Given the description of an element on the screen output the (x, y) to click on. 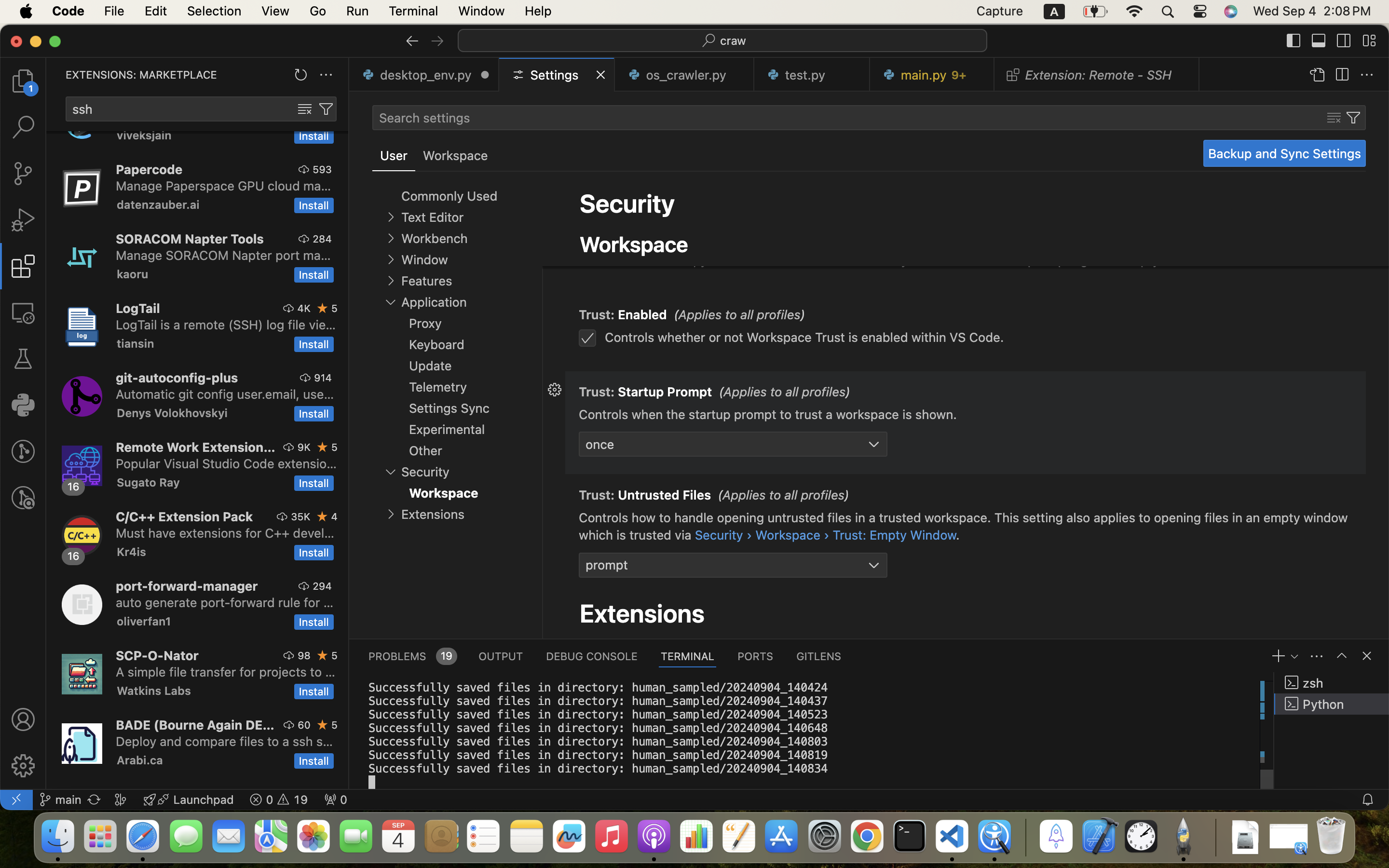
9K Element type: AXStaticText (303, 446)
Proxy Element type: AXStaticText (424, 323)
 Element type: AXGroup (23, 719)
zsh  Element type: AXGroup (1331, 682)
Deploy and compare files to a ssh server Element type: AXStaticText (224, 740)
